Given the description of an element on the screen output the (x, y) to click on. 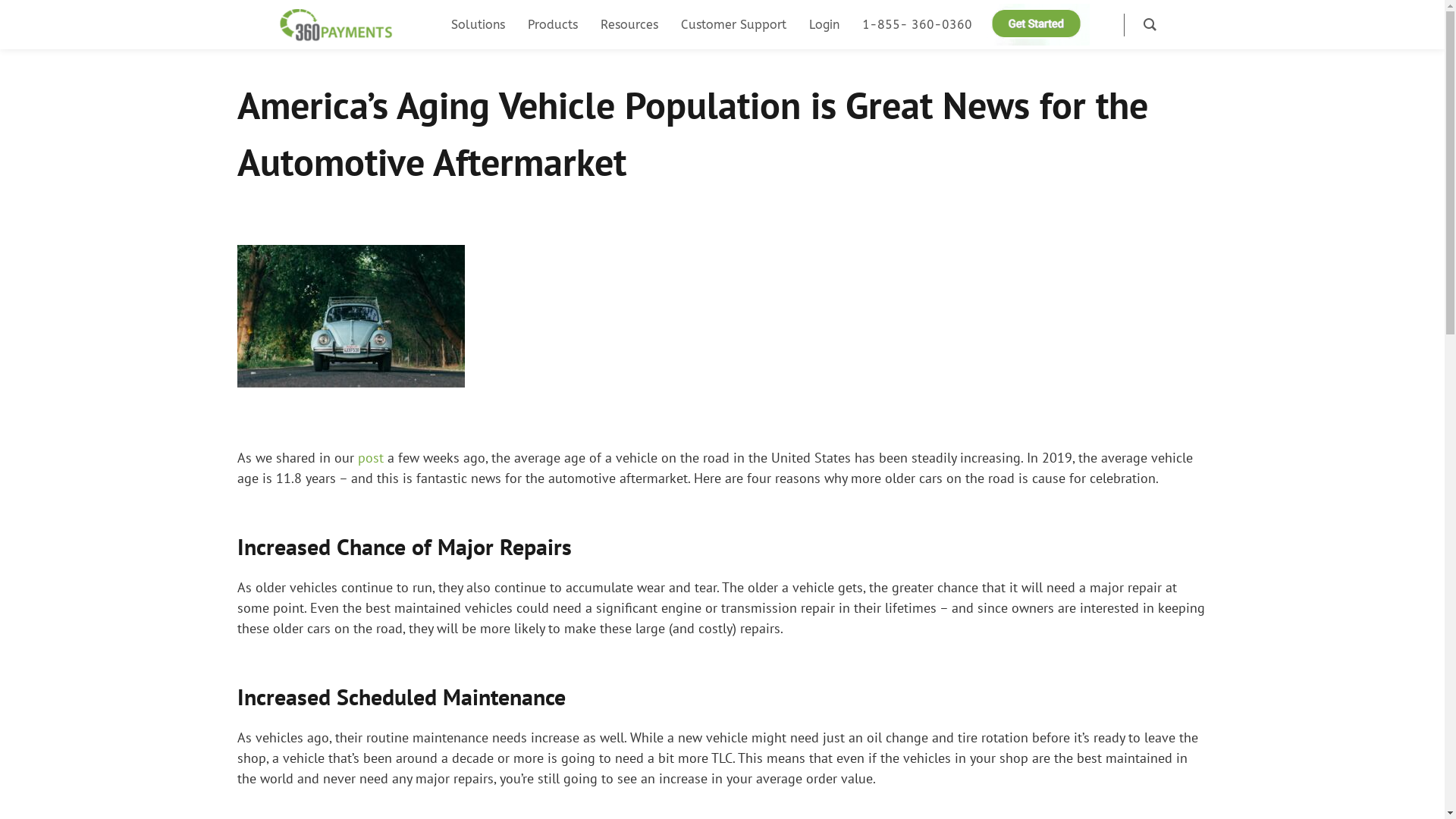
post Element type: text (370, 457)
Solutions Element type: text (478, 24)
  Element type: text (1102, 24)
Login Element type: text (824, 24)
Products Element type: text (552, 24)
Customer Support Element type: text (733, 24)
Resources Element type: text (629, 24)
